Given the description of an element on the screen output the (x, y) to click on. 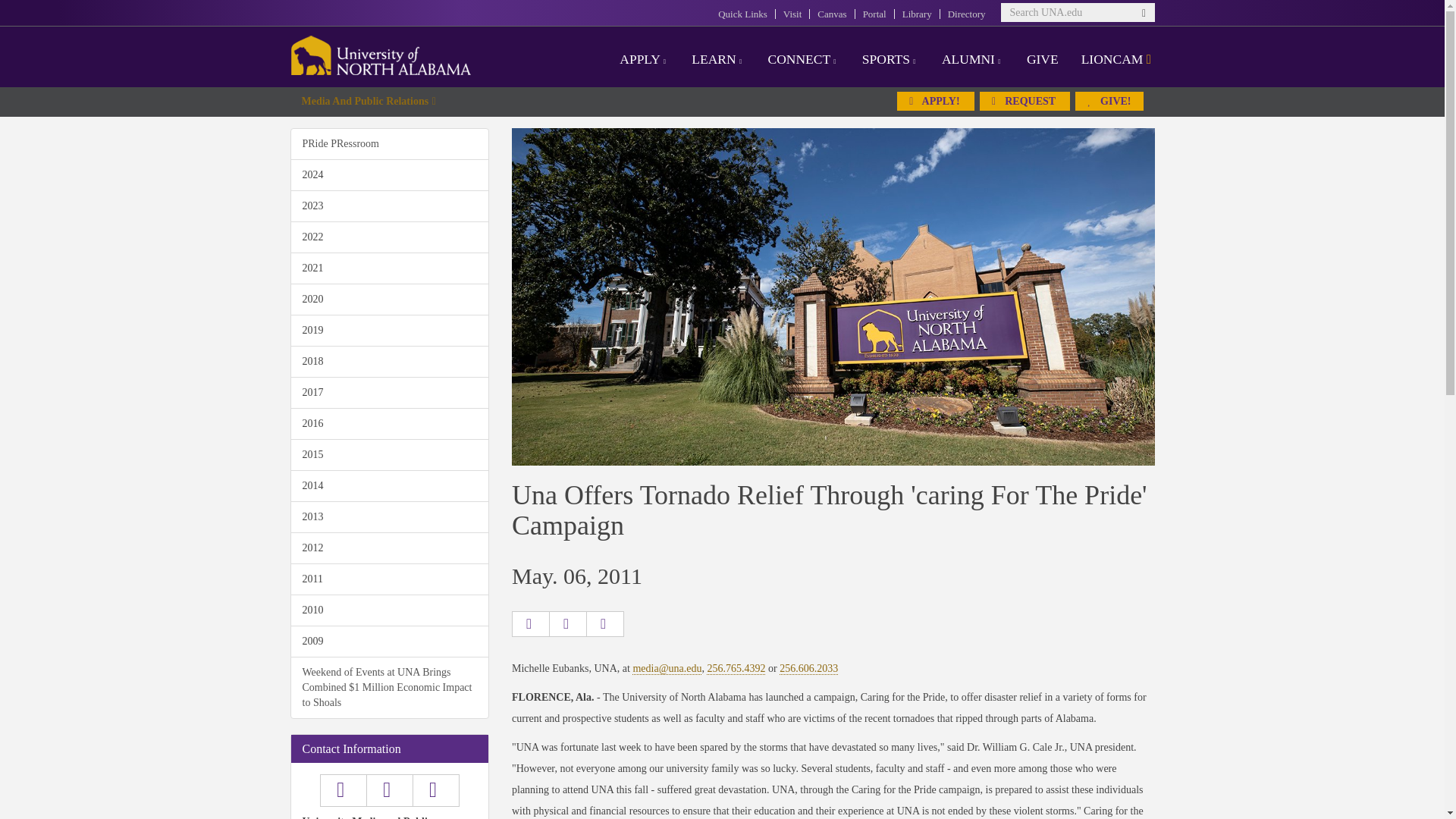
Directory (966, 13)
Canvas (830, 13)
Quick Links (742, 13)
  Go (1145, 20)
Portal (874, 13)
Search UNA.edu (1077, 12)
Library (916, 13)
University of North Alabama (380, 55)
Visit (792, 13)
